Given the description of an element on the screen output the (x, y) to click on. 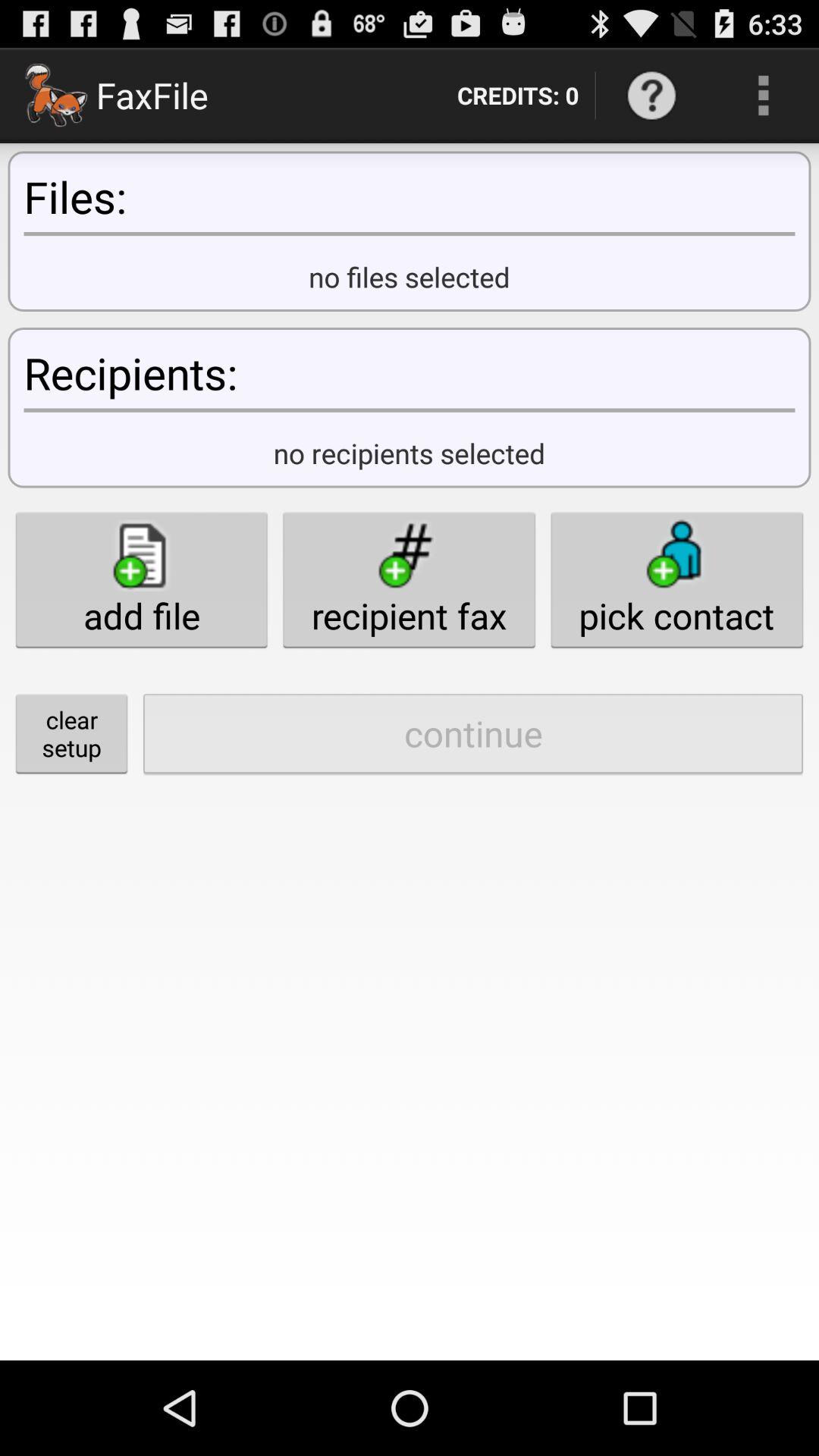
open icon to the right of clear
setup button (473, 733)
